Given the description of an element on the screen output the (x, y) to click on. 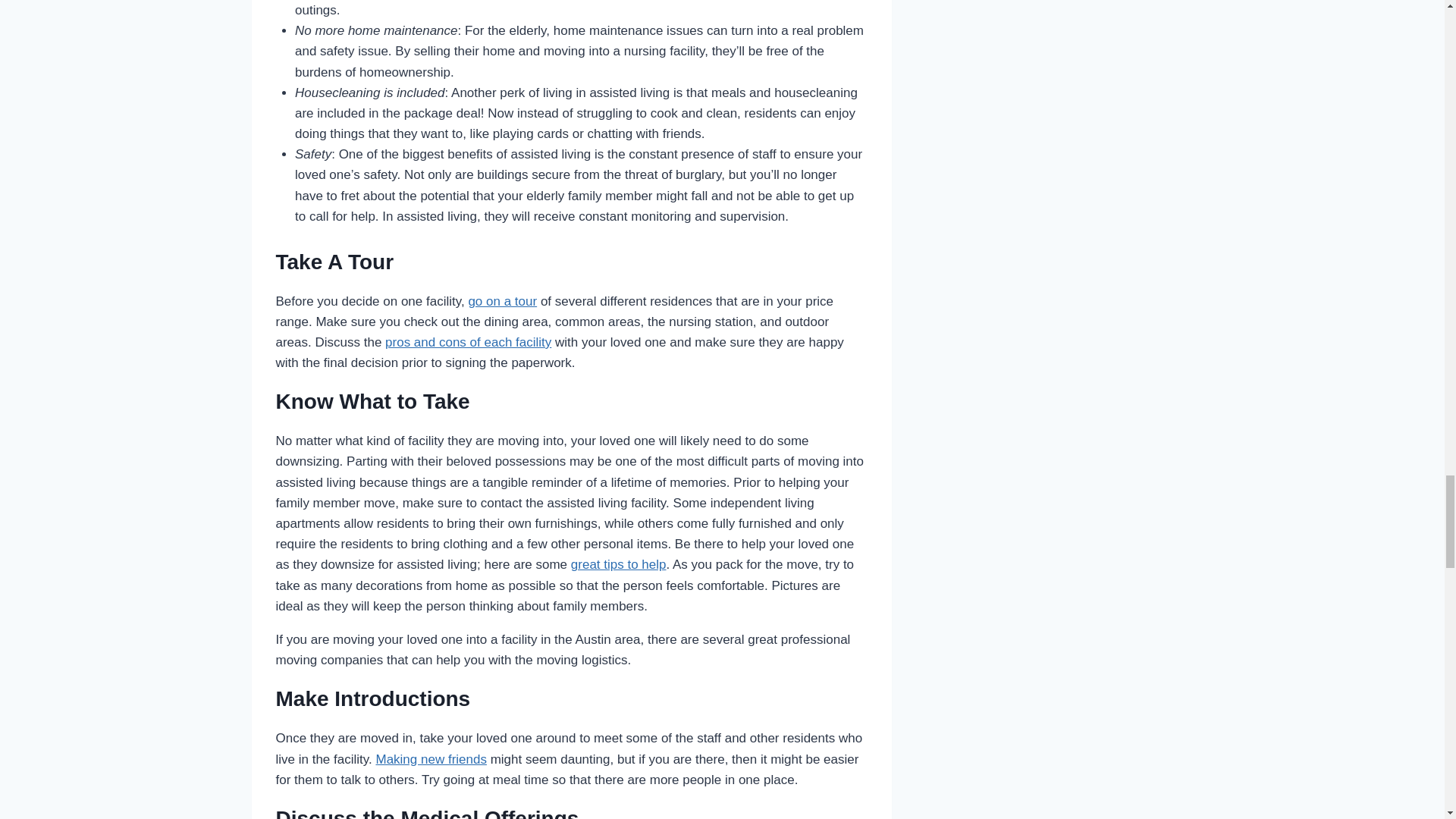
Making new friends (430, 759)
go on a tour (502, 301)
pros and cons of each facility (468, 341)
great tips to help (618, 564)
